Given the description of an element on the screen output the (x, y) to click on. 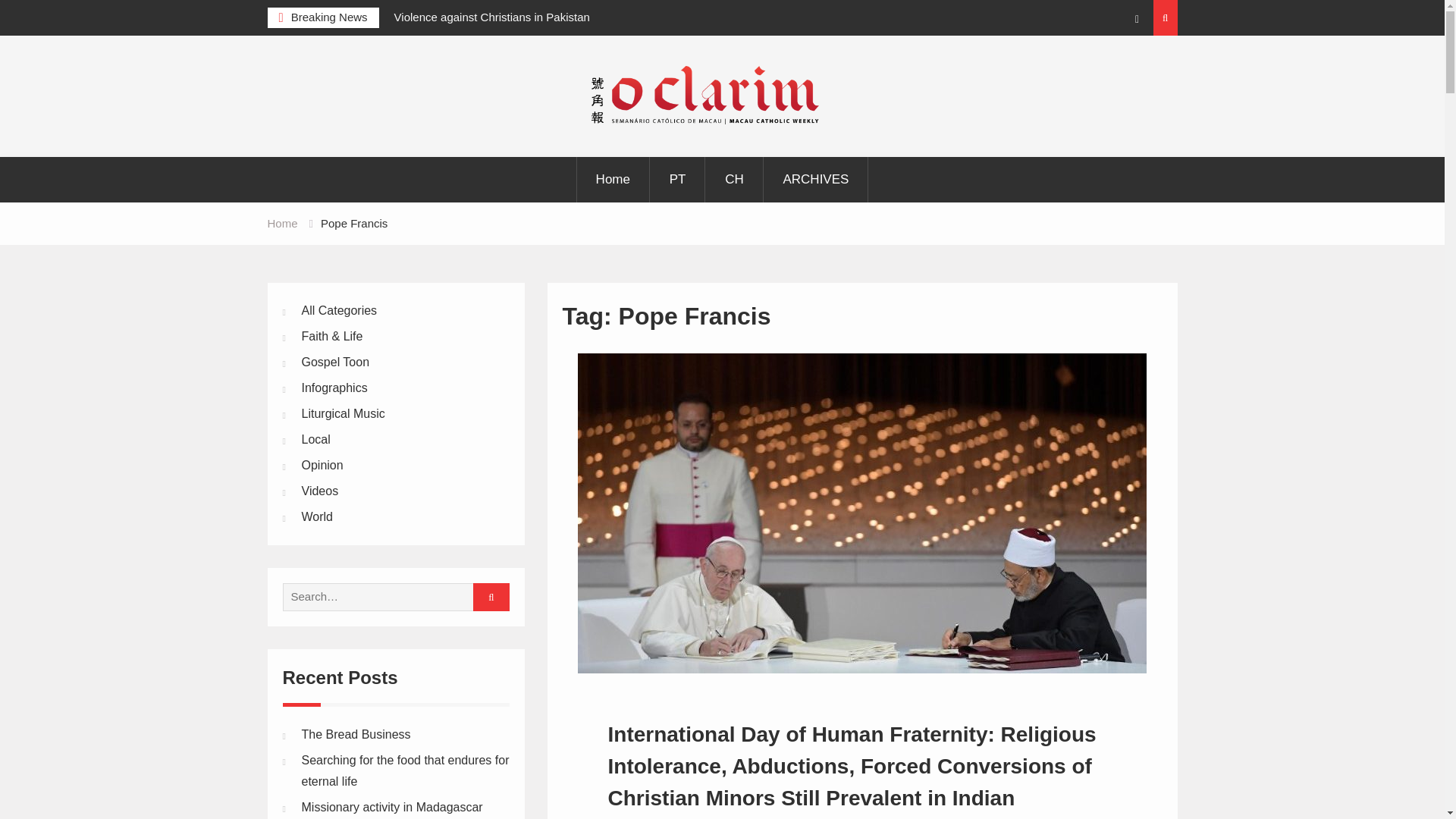
Home (281, 223)
Home (612, 179)
Search for: (389, 596)
Violence against Christians in Pakistan (491, 17)
PT (678, 179)
ARCHIVES (814, 179)
CH (734, 179)
